Given the description of an element on the screen output the (x, y) to click on. 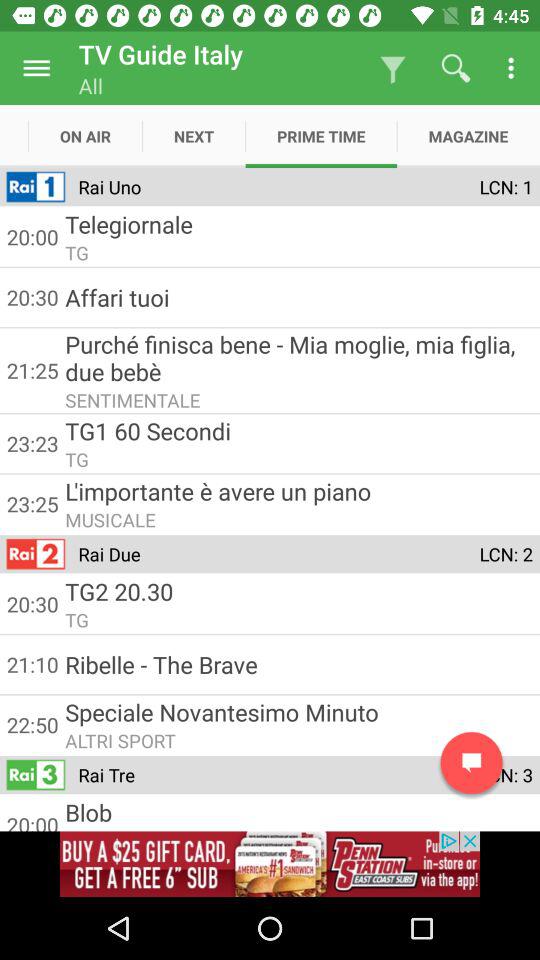
visit advertiser website (270, 864)
